Given the description of an element on the screen output the (x, y) to click on. 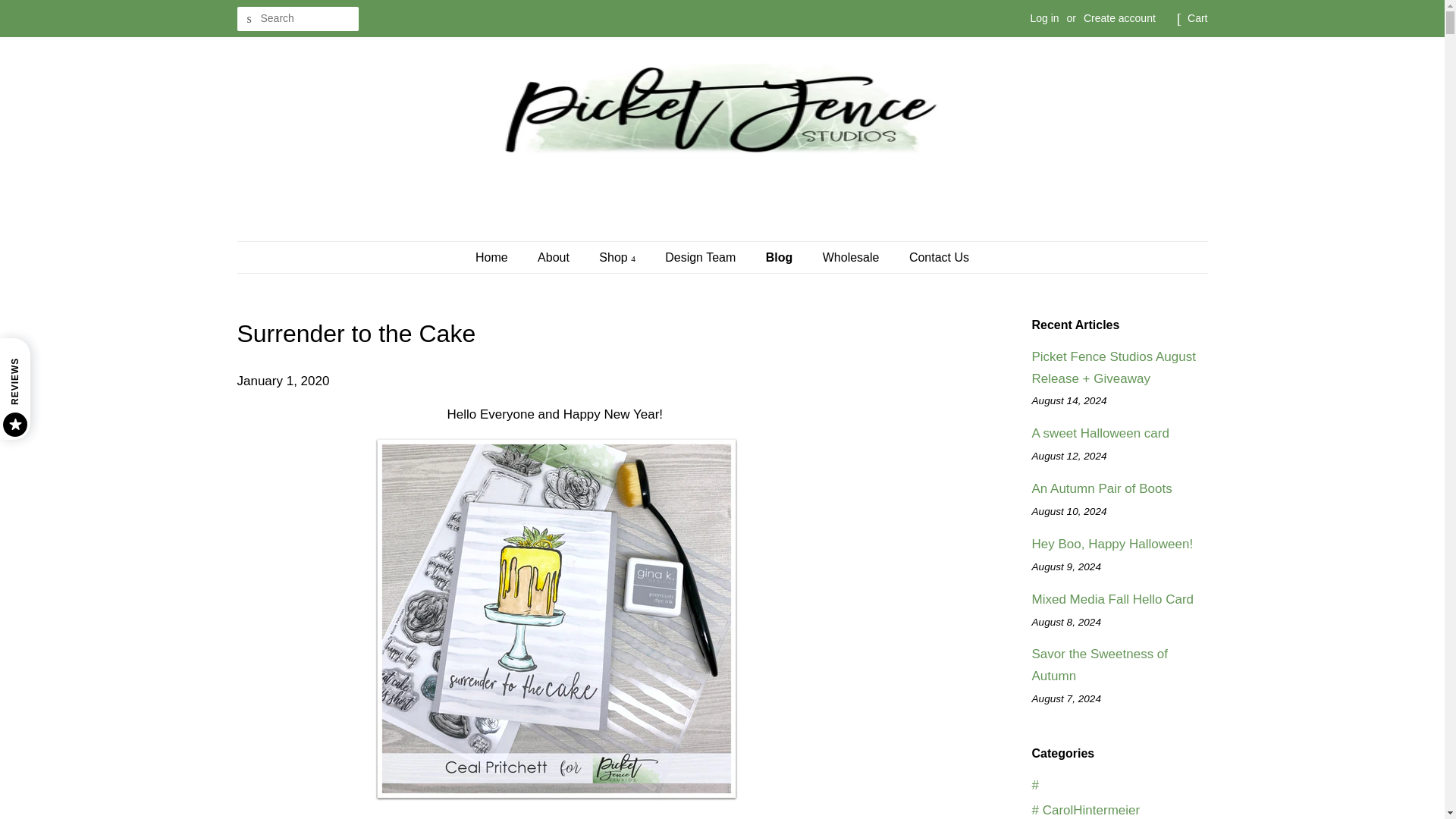
Log in (1043, 18)
Search (247, 18)
About (555, 256)
Cart (1197, 18)
Create account (1119, 18)
Home (499, 256)
Shop (618, 256)
